Given the description of an element on the screen output the (x, y) to click on. 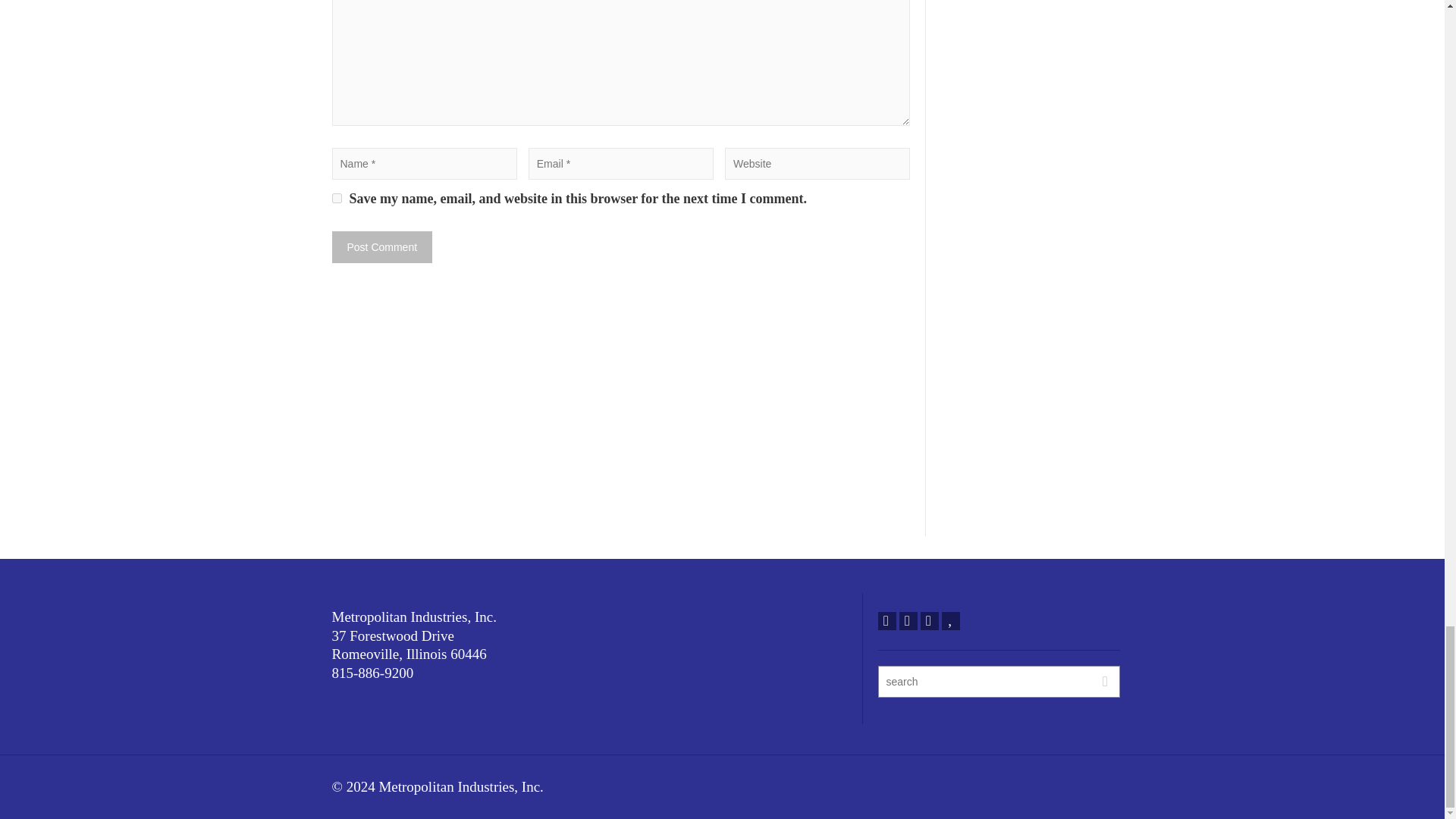
Facebook (908, 620)
Twitter (886, 620)
Post Comment (381, 246)
yes (336, 198)
Linkedin (929, 620)
YouTube (950, 620)
